Given the description of an element on the screen output the (x, y) to click on. 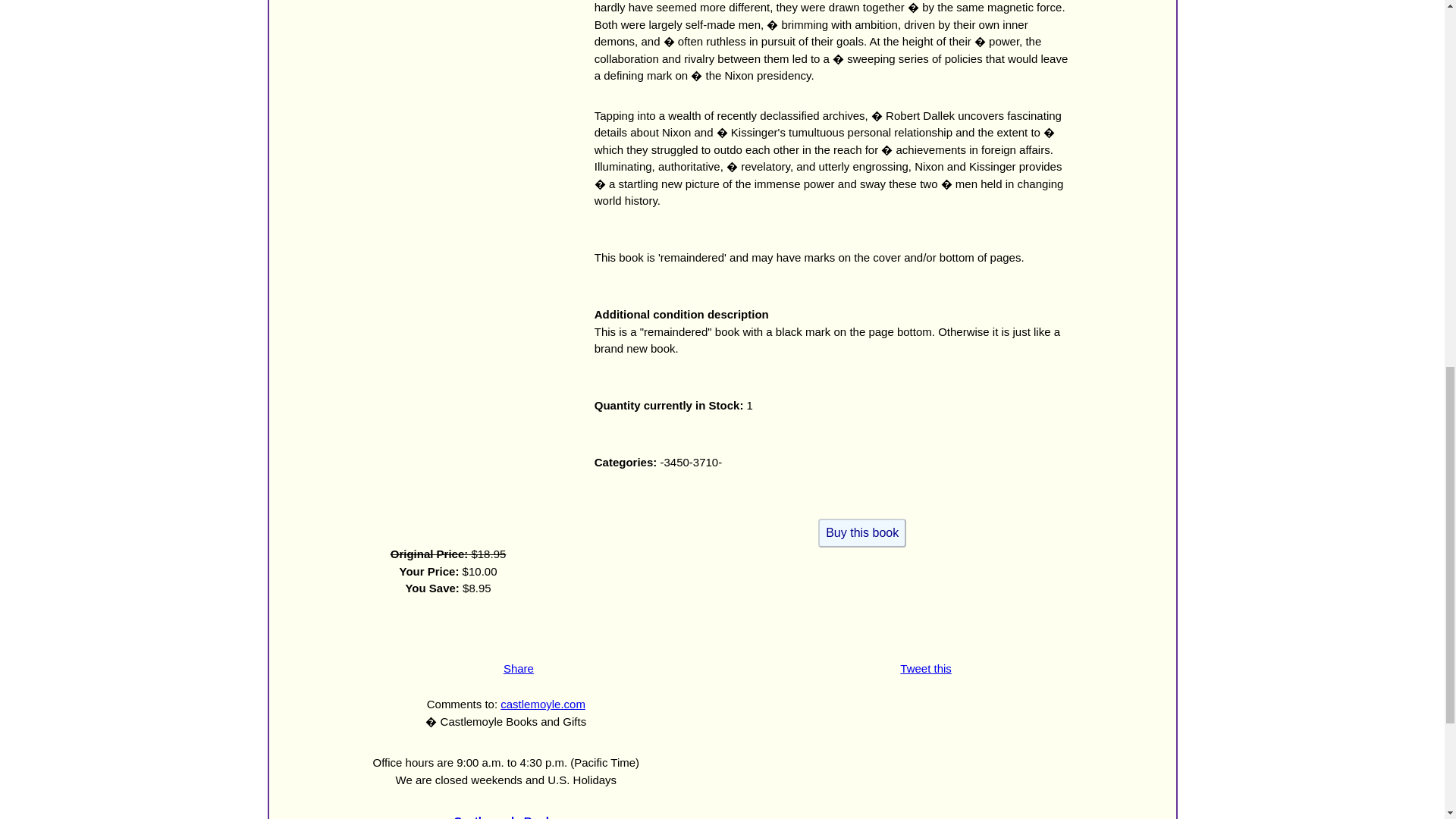
castlemoyle.com (542, 703)
Castlemoyle Books (504, 816)
Link to Castlemoyle Books home page (504, 816)
Buy this book (861, 532)
Share (518, 667)
